Given the description of an element on the screen output the (x, y) to click on. 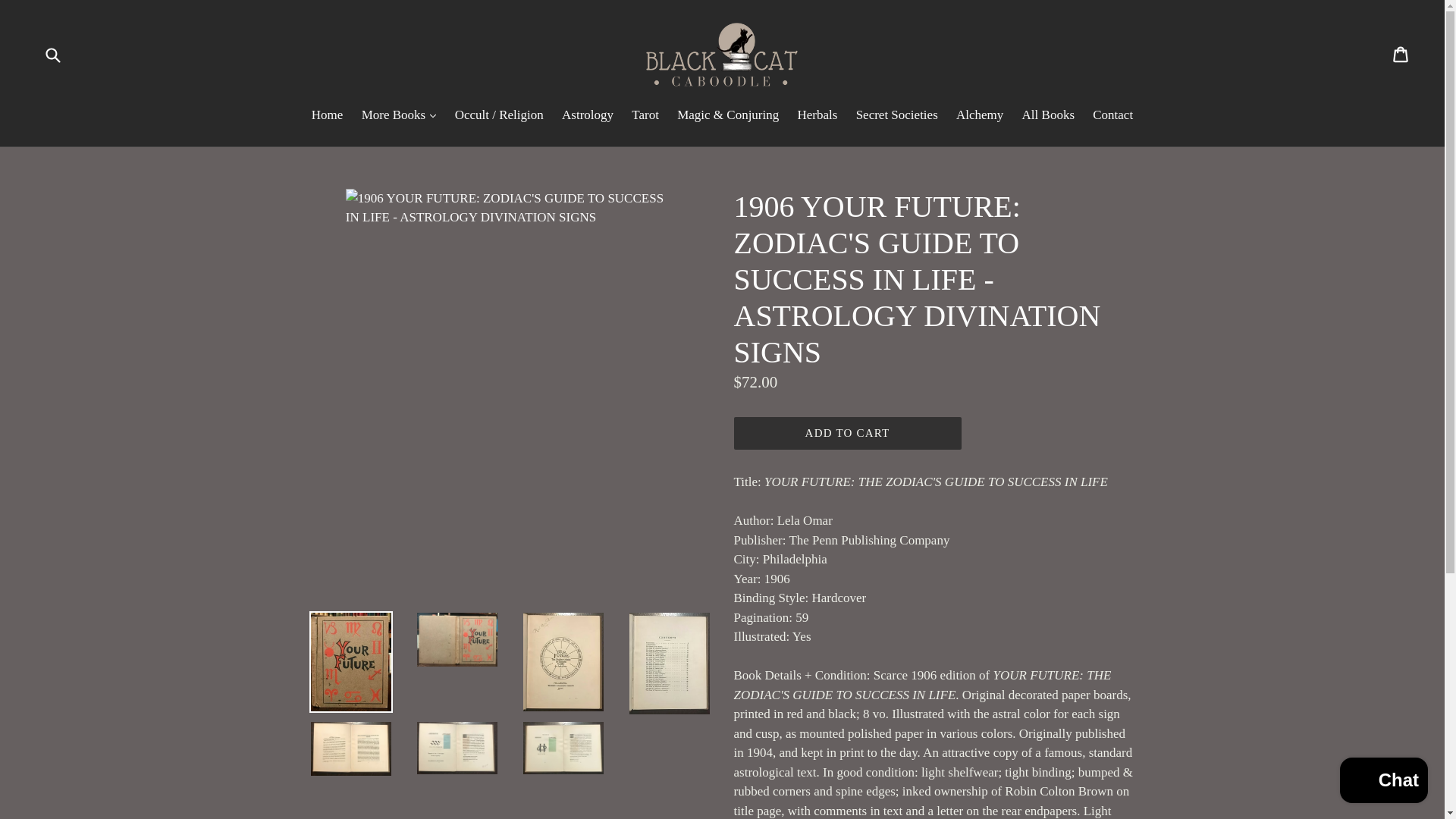
Tarot (645, 116)
Shopify online store chat (1383, 781)
Home (327, 116)
Astrology (587, 116)
